Given the description of an element on the screen output the (x, y) to click on. 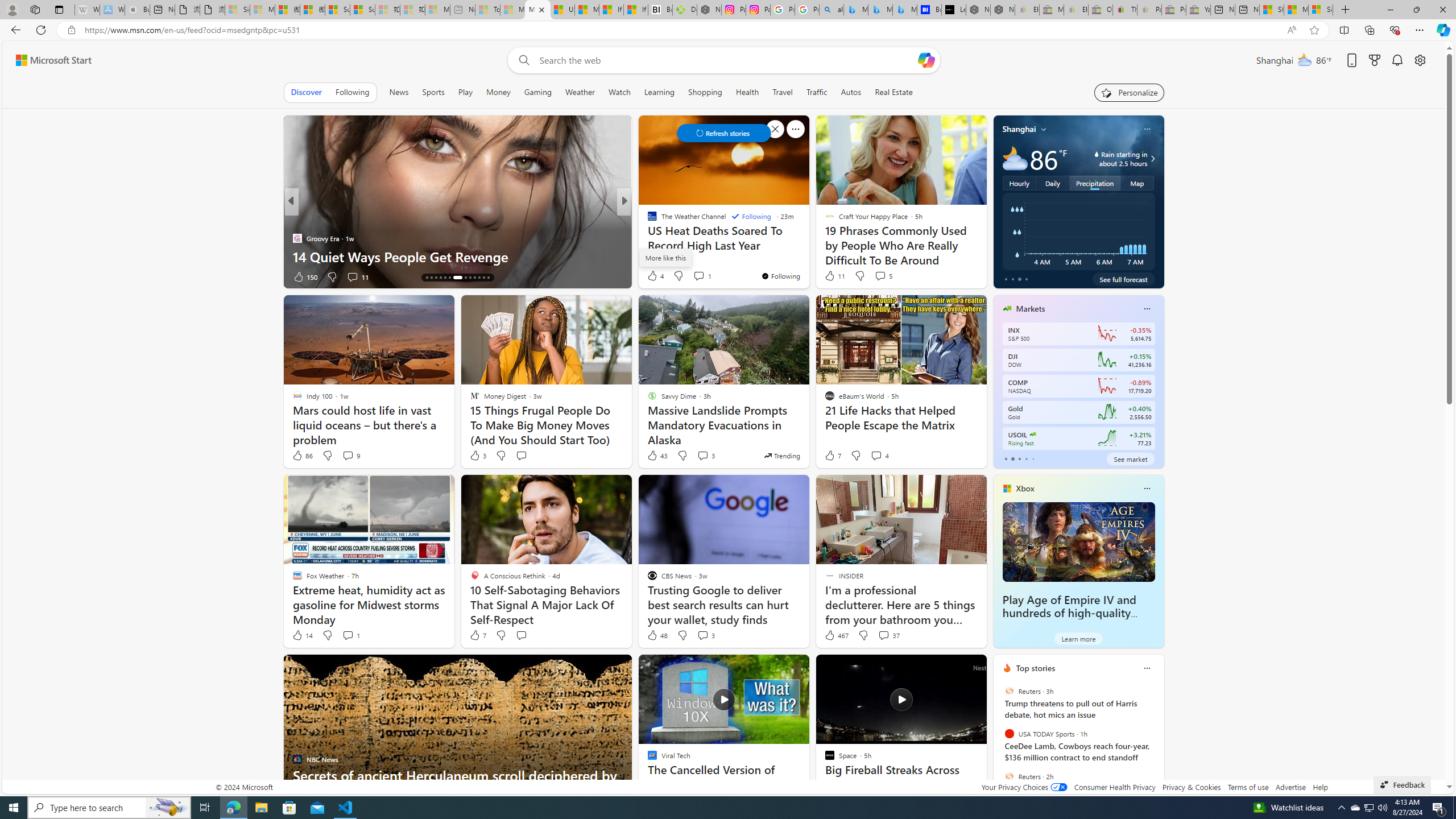
Microsoft Bing Travel - Flights from Hong Kong to Bangkok (855, 9)
Minimize (1390, 9)
View comments 2 Comment (702, 276)
Class: control (723, 132)
Health (746, 92)
Learning (658, 92)
tab-0 (1005, 458)
My location (1043, 128)
View comments 1 Comment (350, 634)
Traffic (816, 92)
Travel (782, 92)
Money (497, 92)
